Given the description of an element on the screen output the (x, y) to click on. 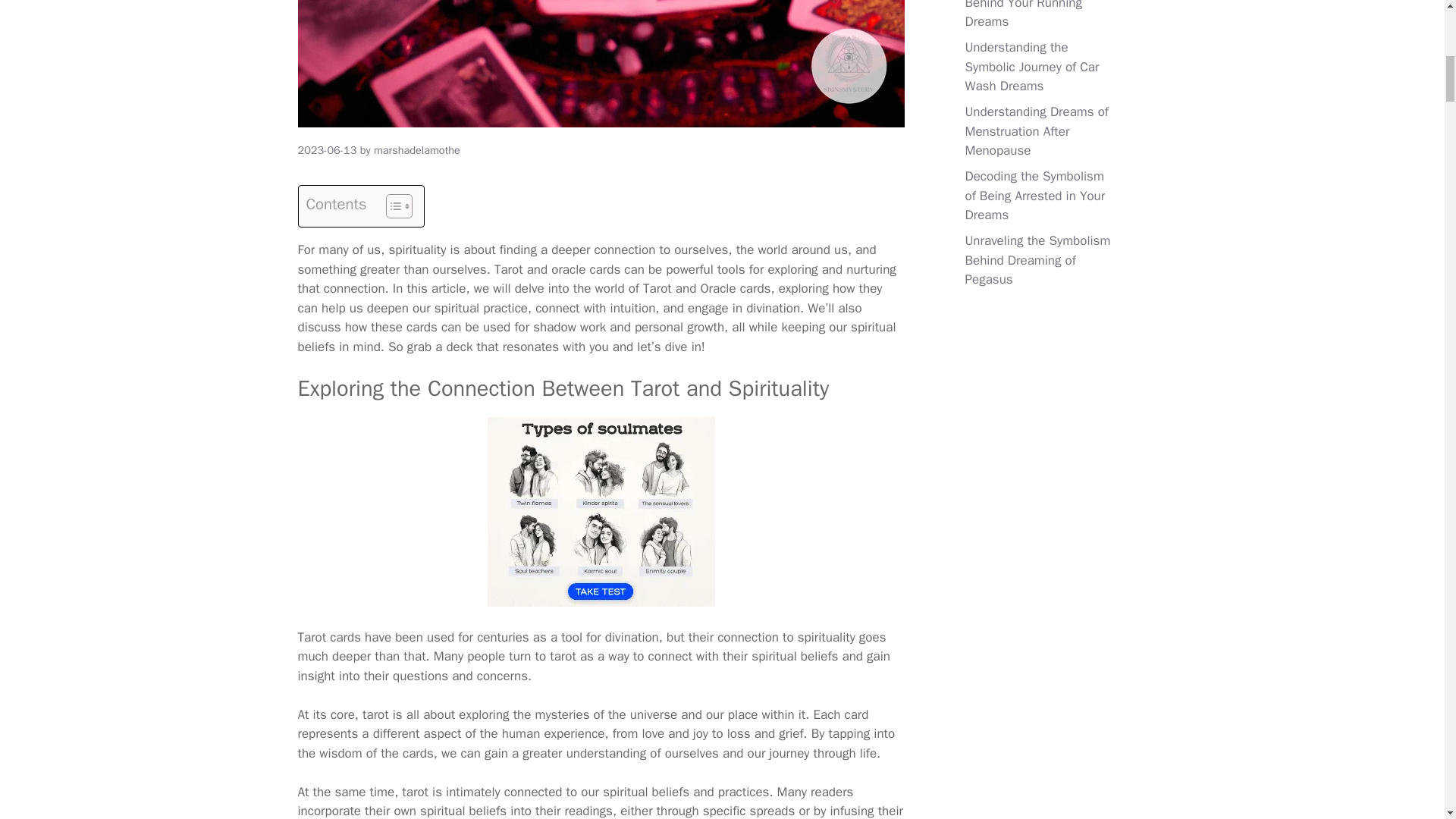
View all posts by marshadelamothe (417, 150)
